Given the description of an element on the screen output the (x, y) to click on. 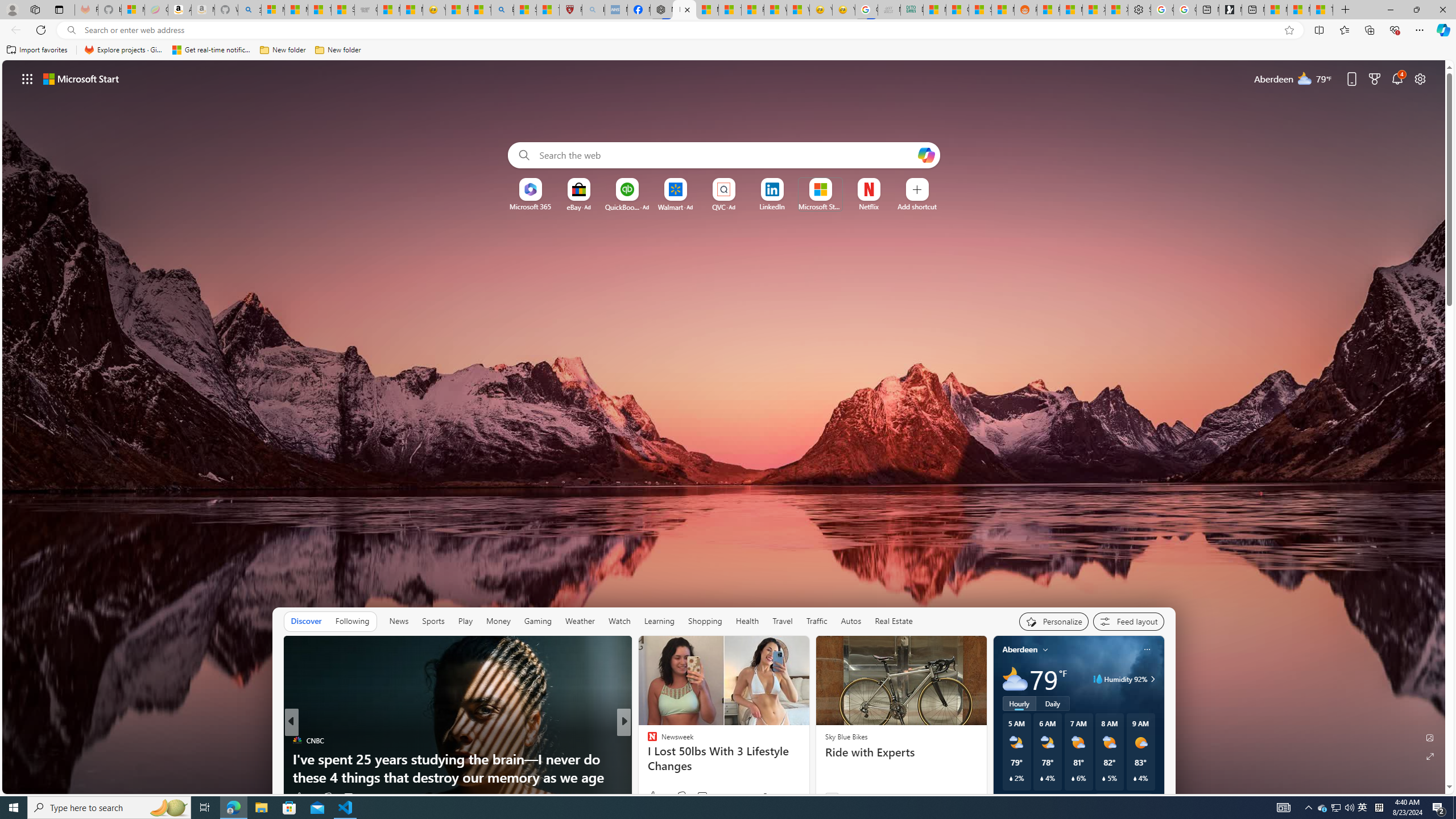
Aberdeen (1019, 649)
Class: weather-current-precipitation-glyph (1134, 778)
